Given the description of an element on the screen output the (x, y) to click on. 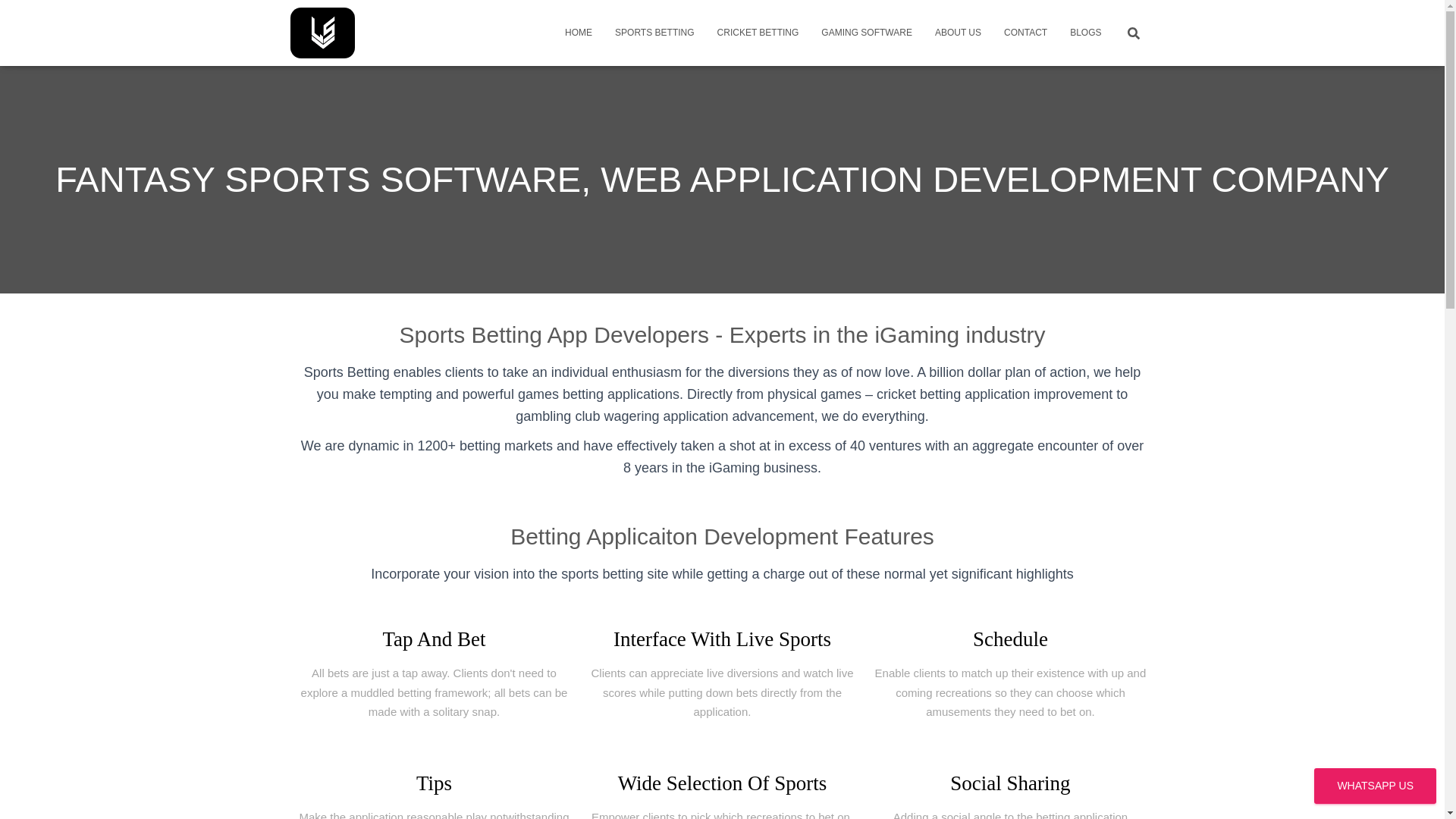
Contact (1025, 32)
BLOGS (1085, 32)
Cricket Betting (758, 32)
CONTACT (1025, 32)
ABOUT US (957, 32)
Blogs (1085, 32)
Lenious Software (322, 32)
WHATSAPP US (1374, 785)
Sports Betting (654, 32)
CRICKET BETTING (758, 32)
